Given the description of an element on the screen output the (x, y) to click on. 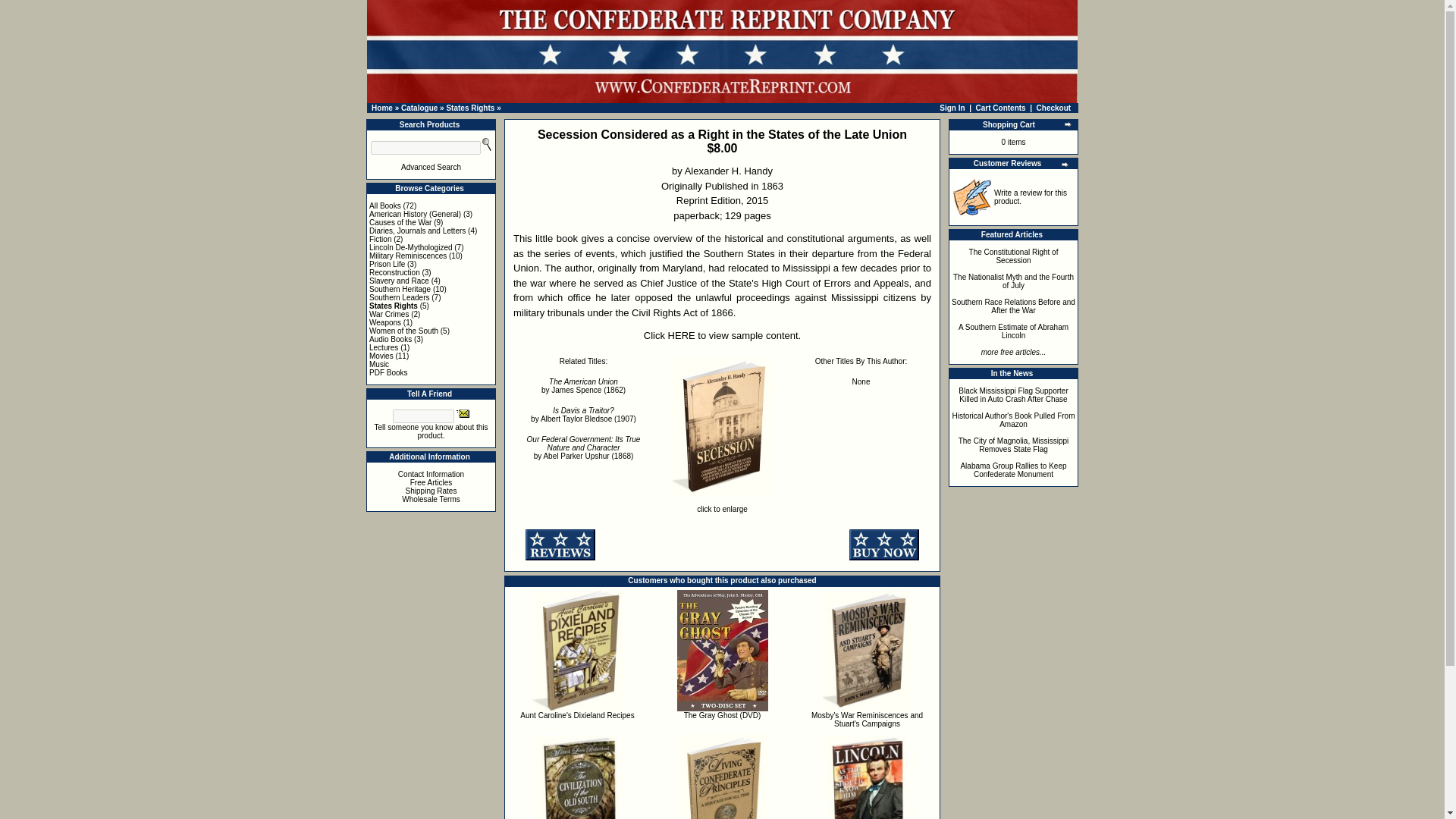
 Write Review  (972, 197)
Movies (381, 356)
Reconstruction (394, 272)
Audio Books (390, 338)
Women of the South (403, 330)
Southern Leaders (399, 297)
 Lincoln as the South Should Know Him  (867, 776)
Diaries, Journals and Letters (417, 230)
Checkout (1053, 108)
Catalogue (419, 108)
